Given the description of an element on the screen output the (x, y) to click on. 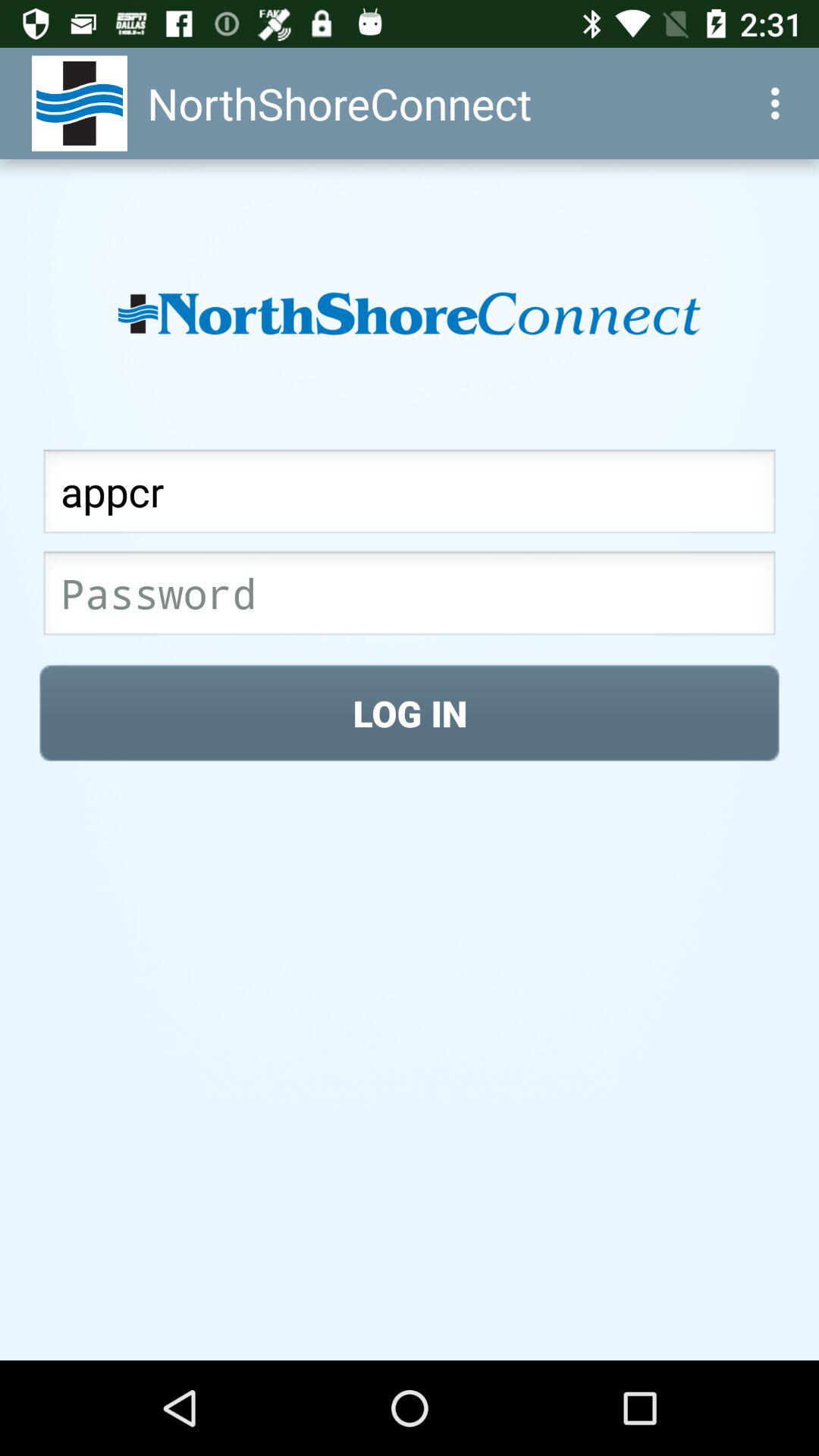
select the log in item (409, 712)
